Given the description of an element on the screen output the (x, y) to click on. 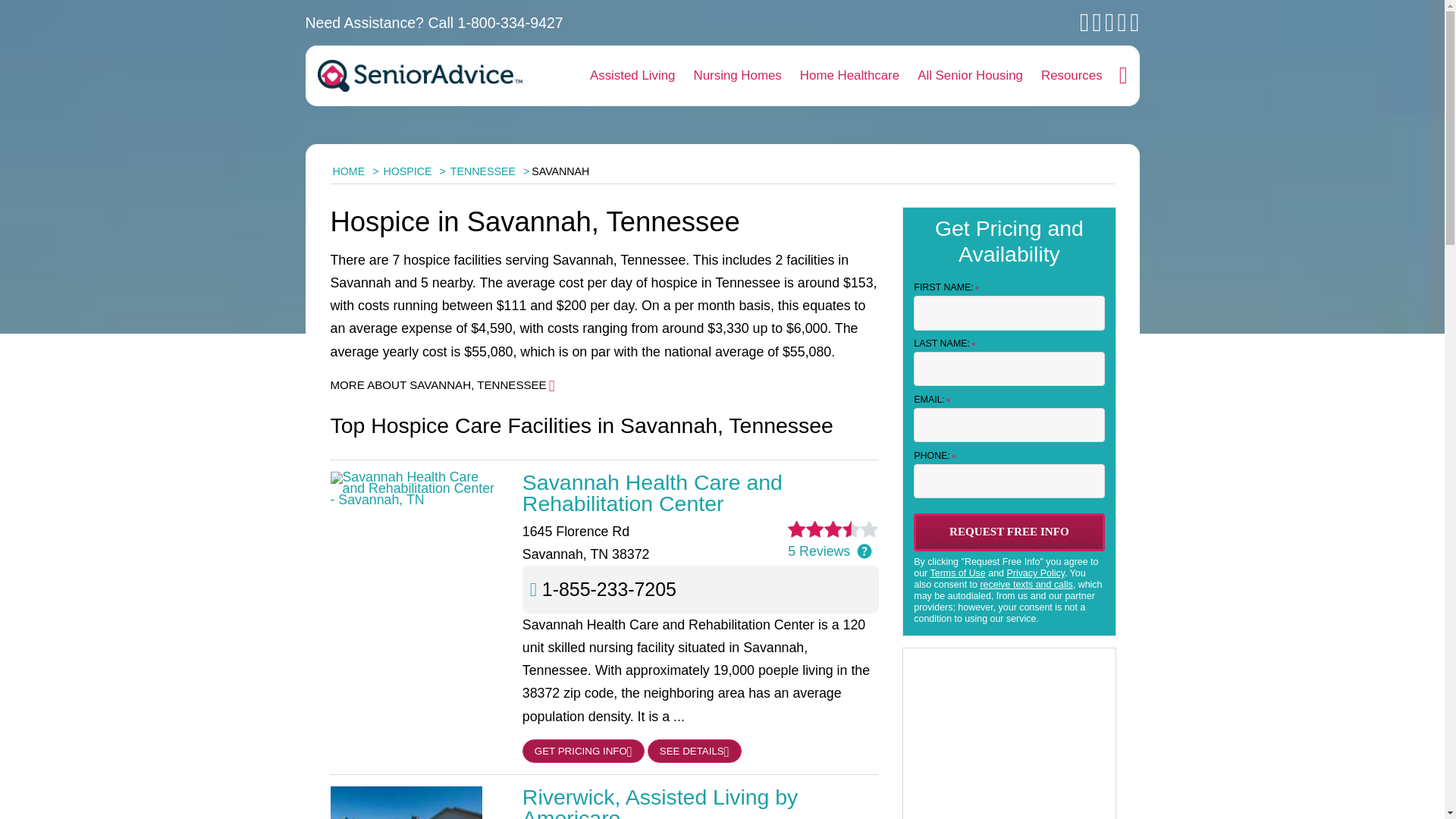
Savannah Health Care and Rehabilitation Center Savannah, TN (700, 493)
Assisted Living (632, 75)
Home Healthcare (849, 75)
Resources (1072, 75)
All Senior Housing (970, 75)
Riverwick, Assisted Living by Americare Savannah, TN (700, 802)
1-800-334-9427 (510, 22)
Nursing Homes (737, 75)
Request Free Info (1008, 531)
